Given the description of an element on the screen output the (x, y) to click on. 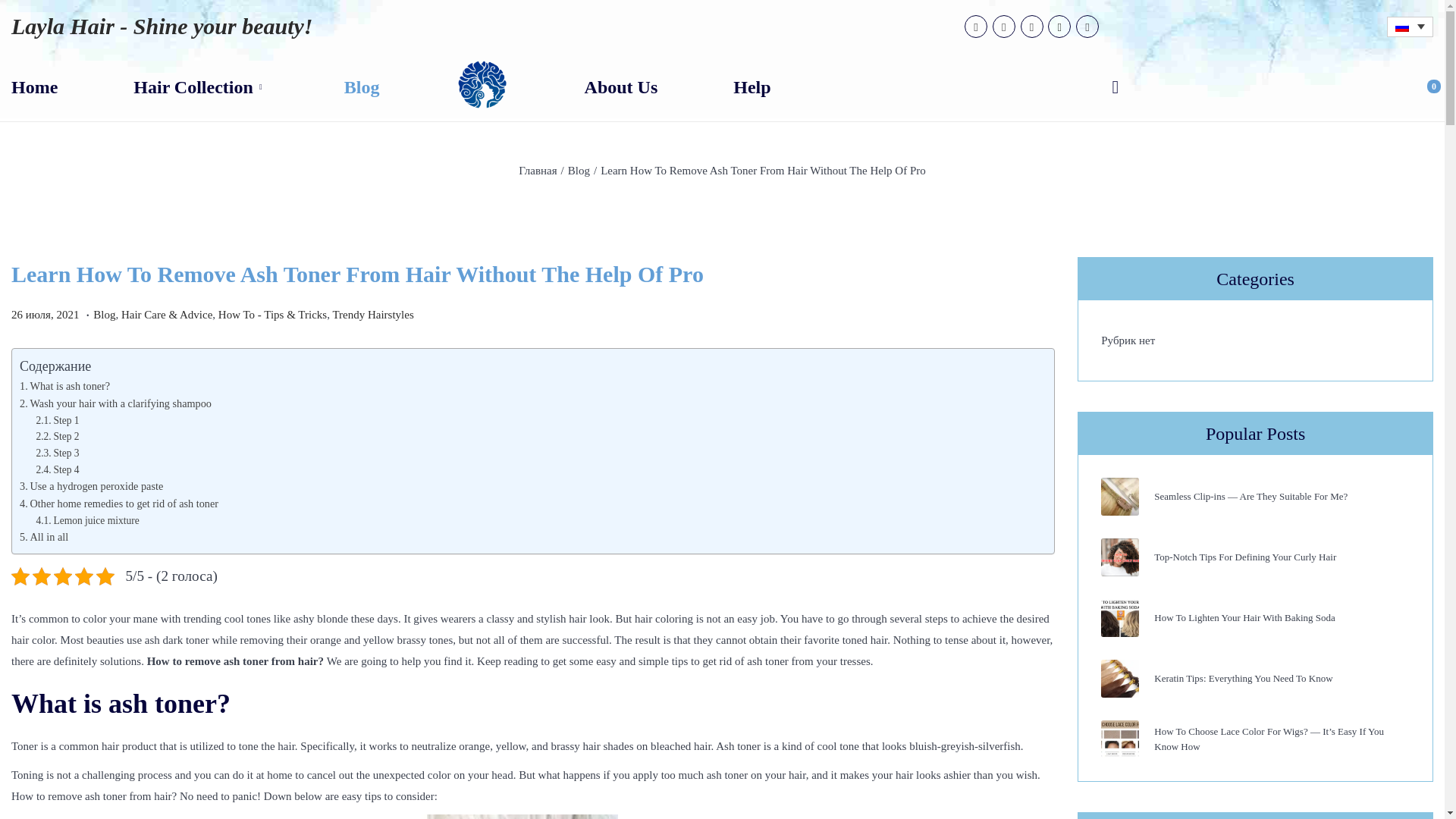
Layla Hair - Shine your beauty! (162, 25)
Lemon juice mixture (86, 520)
Wash your hair with a clarifying shampoo (115, 403)
Hair Collection (200, 87)
About Us (621, 87)
Logo (481, 85)
Step 3 (56, 452)
All in all (44, 536)
Step 1 (56, 419)
Other home remedies to get rid of ash toner (119, 503)
Step 4 (56, 469)
What is ash toner? (65, 386)
